Given the description of an element on the screen output the (x, y) to click on. 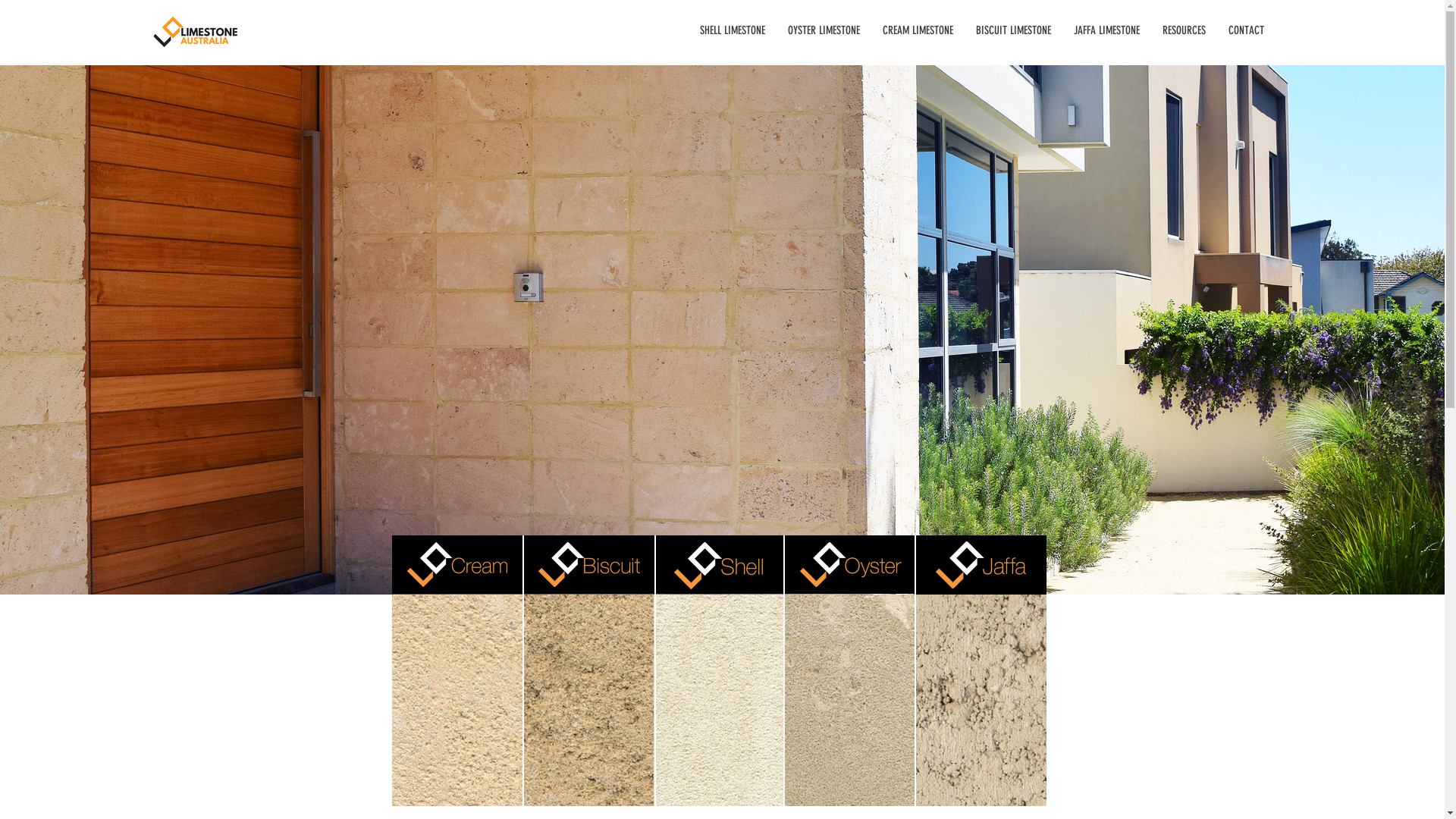
LA Biscuit.png Element type: hover (589, 564)
View Product Specifications Element type: hover (588, 700)
CONTACT Element type: text (1245, 30)
OYSTER LIMESTONE Element type: text (823, 30)
CREAM LIMESTONE Element type: text (916, 30)
JAFFA LIMESTONE Element type: text (1105, 30)
LA Jaffa.png Element type: hover (980, 564)
SHELL LIMESTONE Element type: text (732, 30)
View Product Specifications Element type: hover (456, 700)
View Product Specifications Element type: hover (718, 700)
BISCUIT LIMESTONE Element type: text (1013, 30)
RESOURCES Element type: text (1184, 30)
View Product Specifications Element type: hover (979, 700)
View Product Specifications Element type: hover (849, 700)
LA Oyster.png Element type: hover (849, 564)
